Given the description of an element on the screen output the (x, y) to click on. 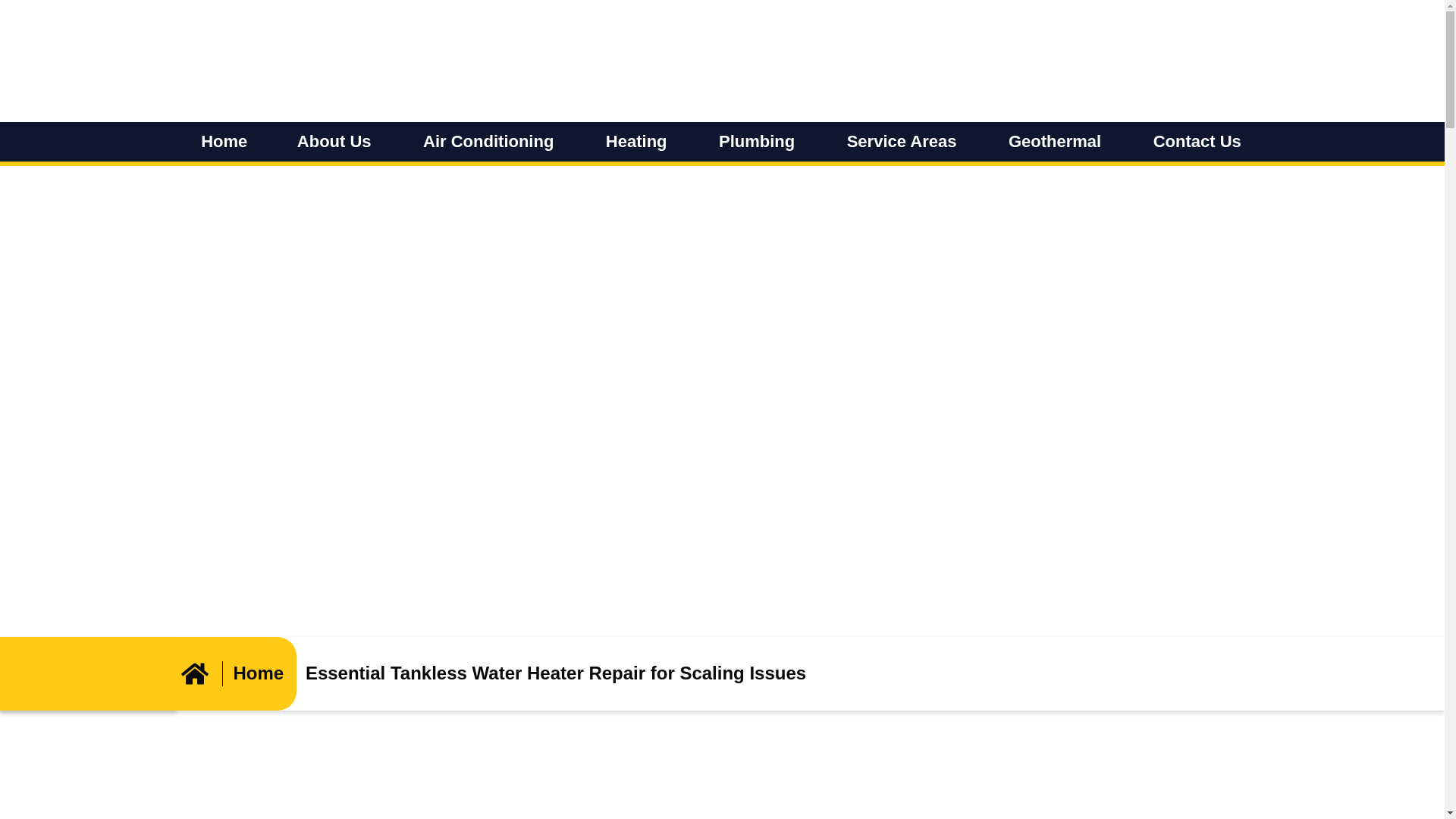
Air Conditioning (488, 141)
Home (224, 141)
Plumbing (758, 141)
About Us (334, 141)
Heating (637, 141)
